Given the description of an element on the screen output the (x, y) to click on. 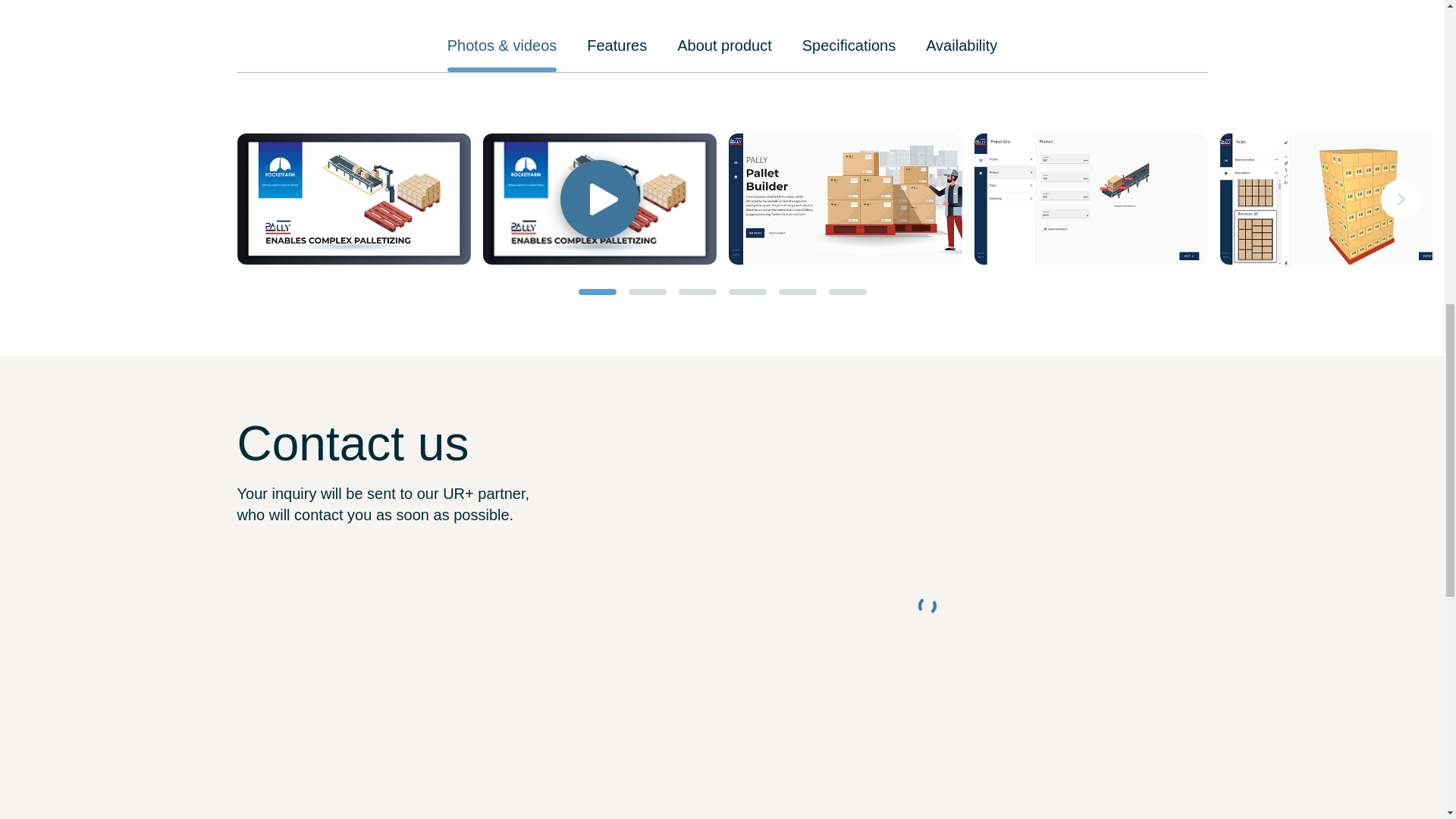
About product (724, 45)
Availability (961, 45)
Specifications (848, 45)
Features (616, 45)
